Given the description of an element on the screen output the (x, y) to click on. 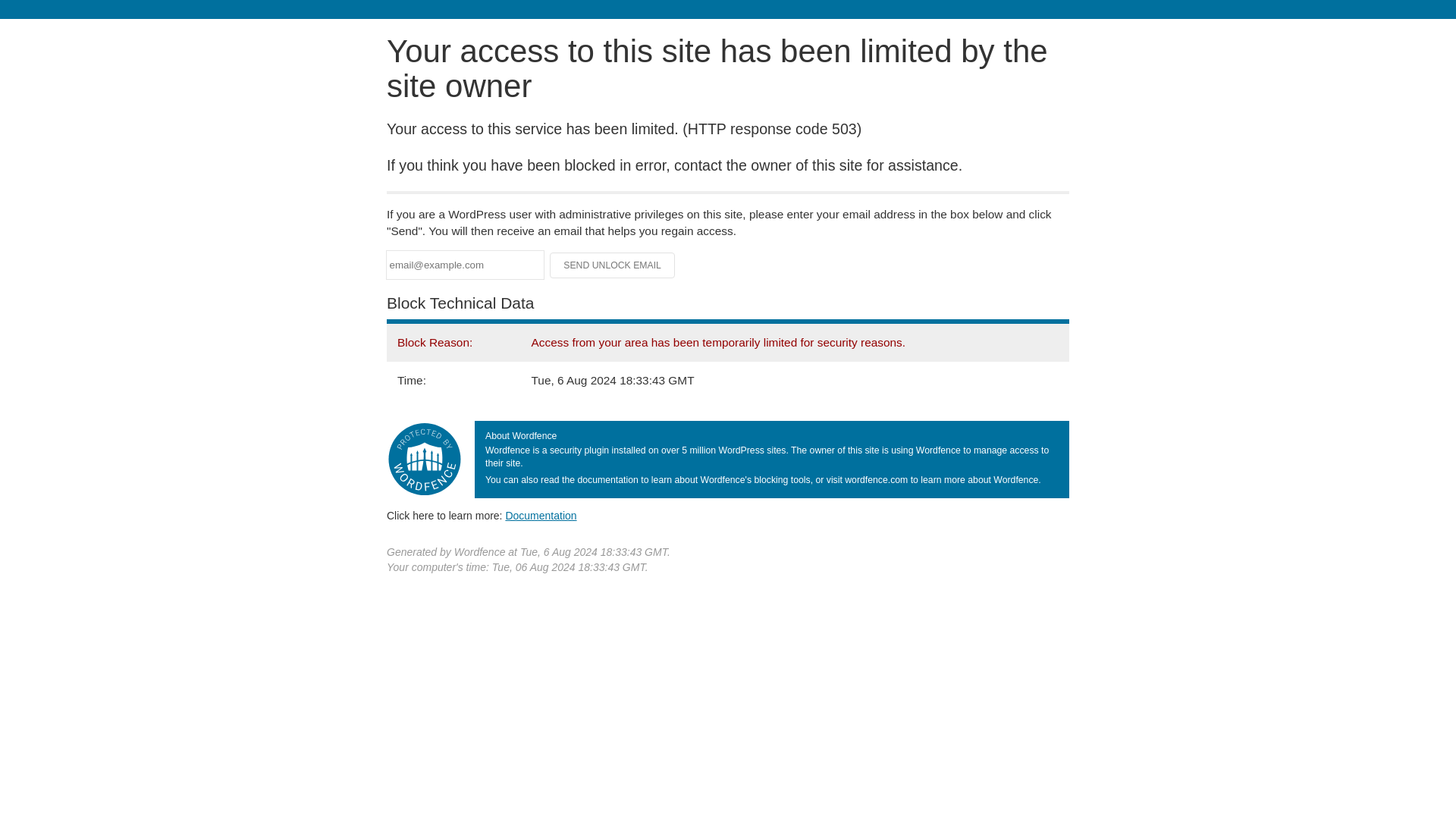
Documentation (540, 515)
Send Unlock Email (612, 265)
Send Unlock Email (612, 265)
